Given the description of an element on the screen output the (x, y) to click on. 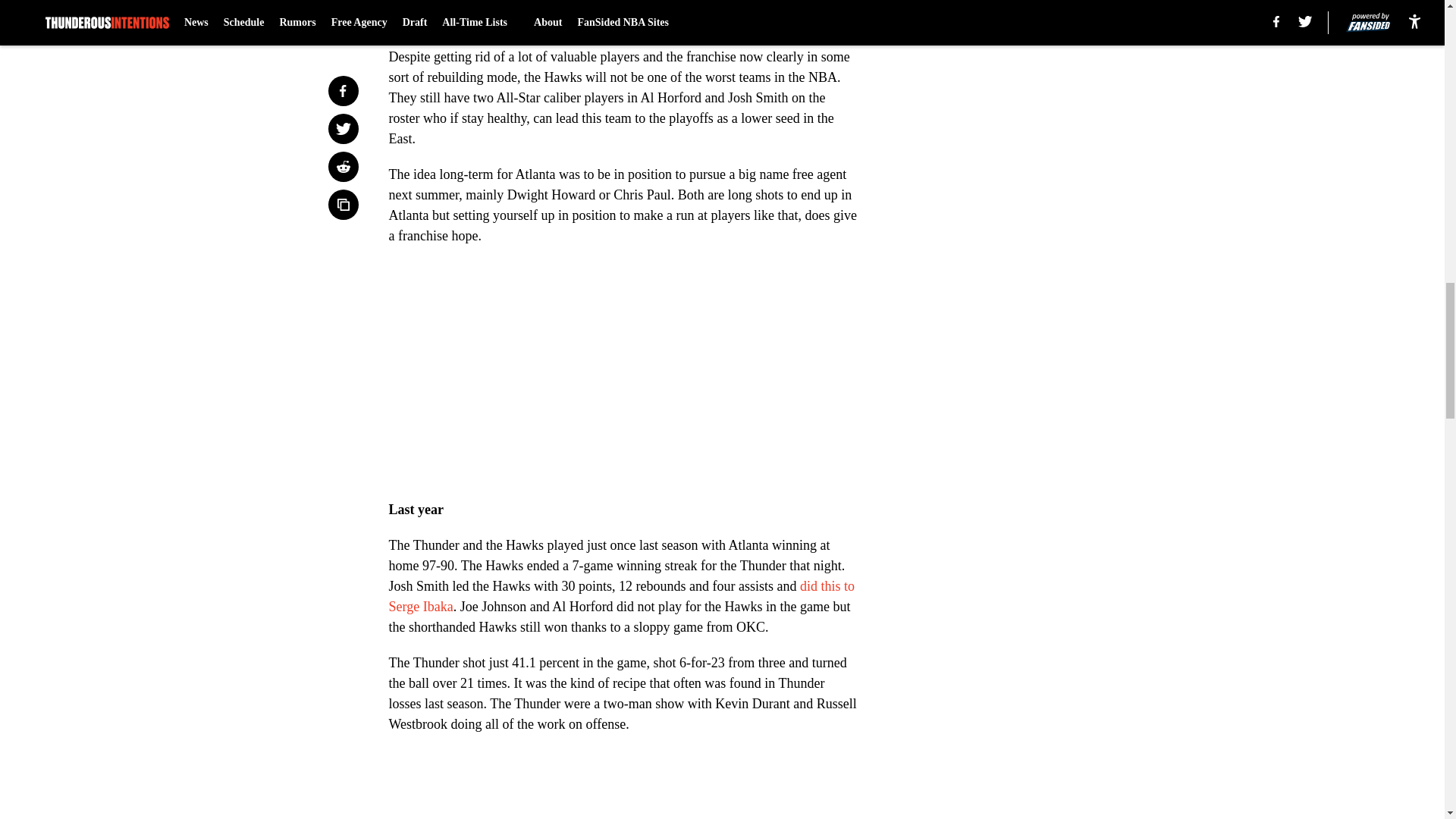
did this to Serge Ibaka (621, 596)
